Given the description of an element on the screen output the (x, y) to click on. 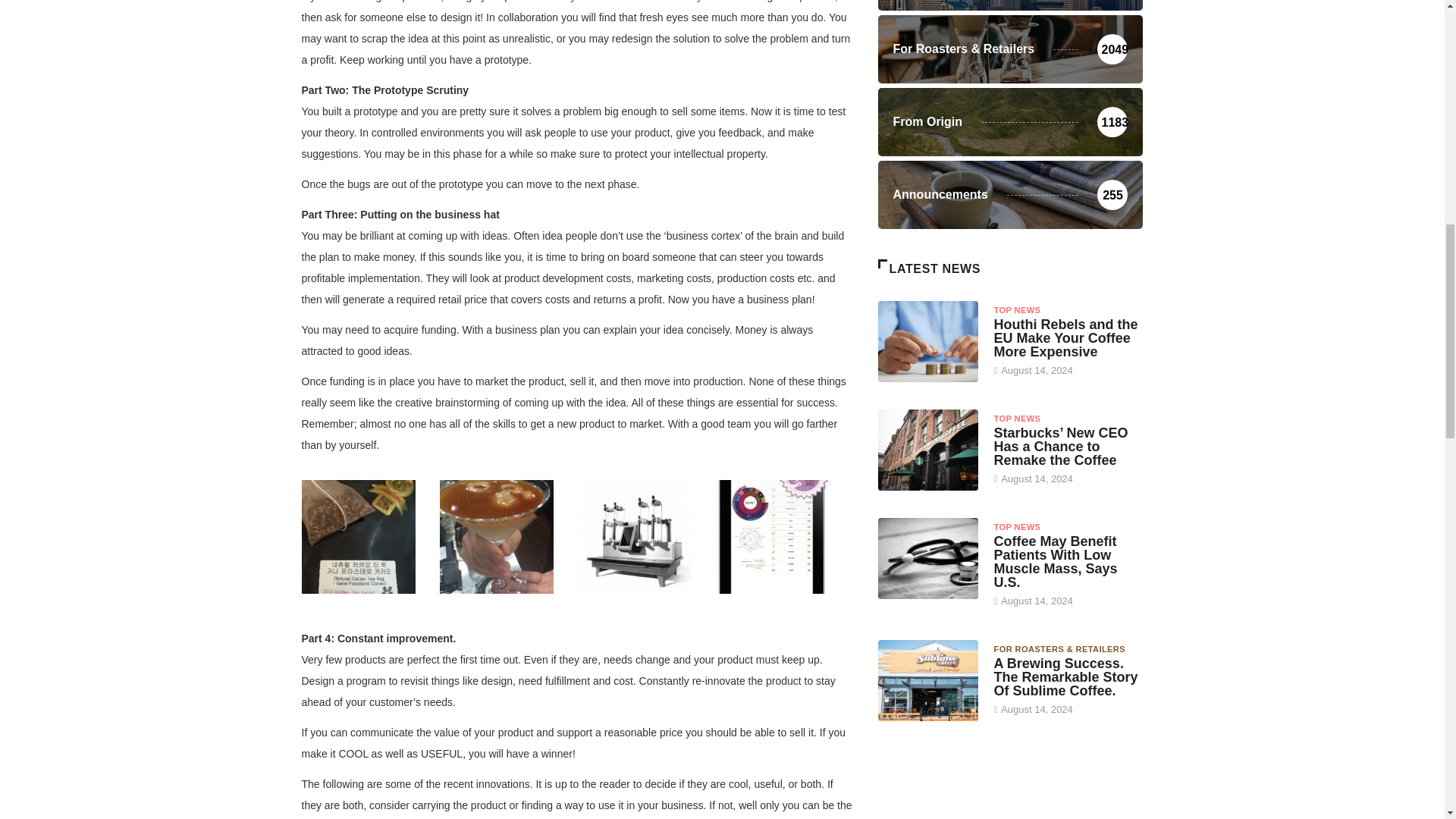
A Brewing Success. The Remarkable Story Of Sublime Coffee. (1064, 677)
A Brewing Success. The Remarkable Story Of Sublime Coffee. (927, 679)
Houthi Rebels and the EU Make Your Coffee More Expensive (1064, 337)
Houthi Rebels and the EU Make Your Coffee More Expensive (927, 341)
